Given the description of an element on the screen output the (x, y) to click on. 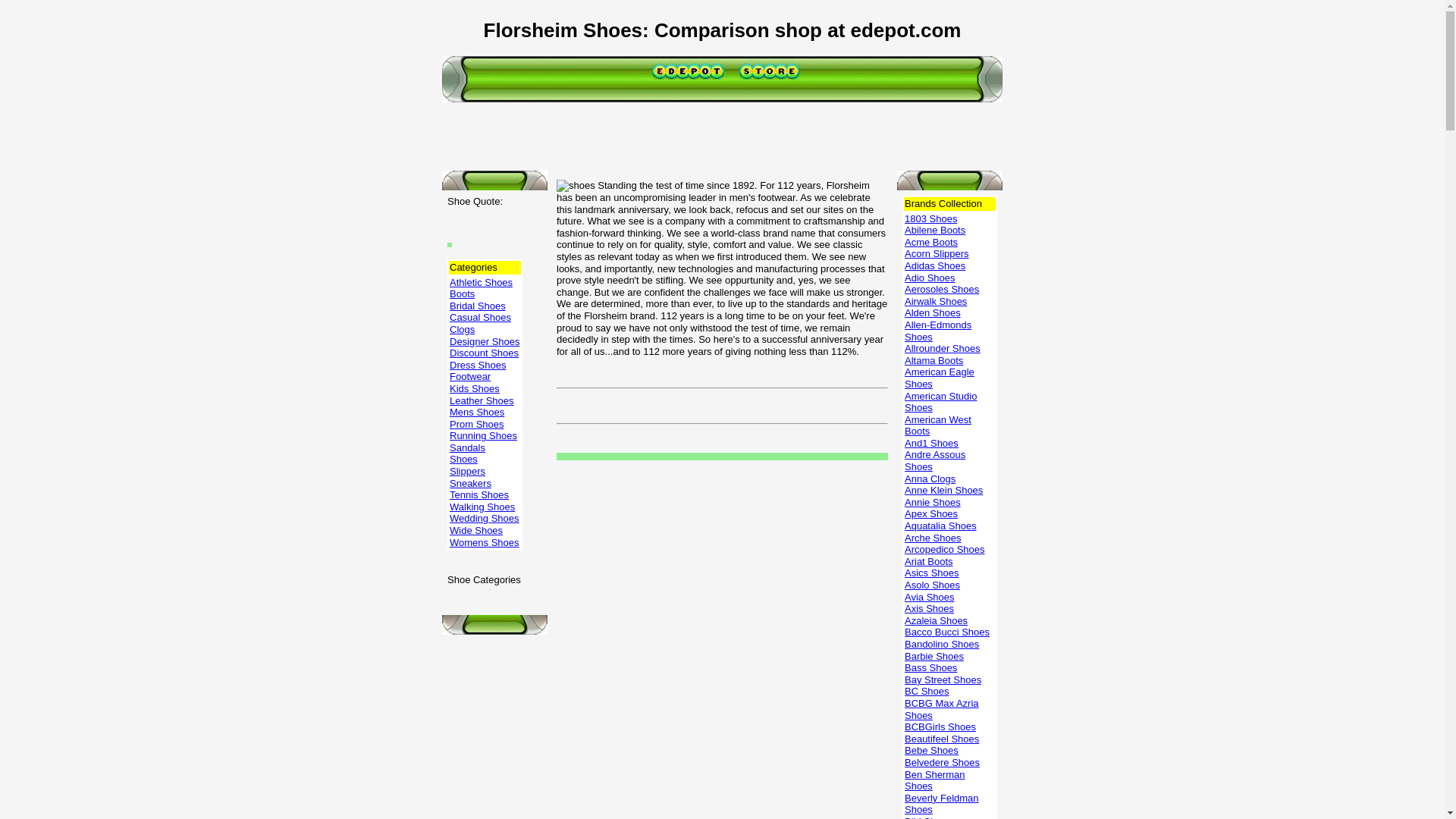
Kids Shoes (474, 388)
Wide Shoes (475, 530)
Shoes (463, 459)
Aerosoles Shoes (941, 288)
Walking Shoes (482, 506)
Airwalk Shoes (935, 301)
And1 Shoes (931, 442)
Slippers (466, 471)
Adidas Shoes (934, 265)
Running Shoes (482, 435)
